Given the description of an element on the screen output the (x, y) to click on. 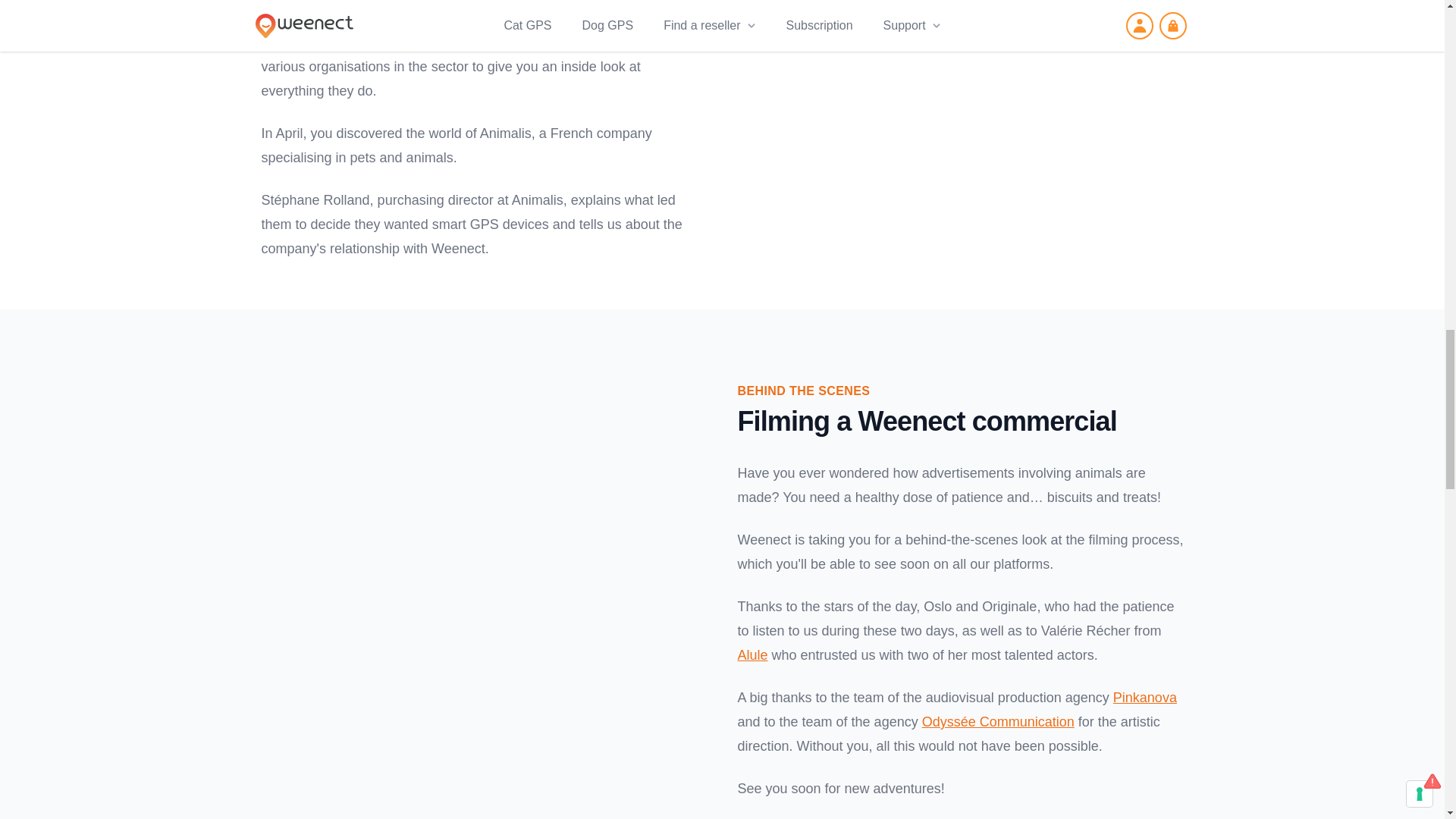
Alule (751, 654)
Pinkanova (1144, 697)
